Given the description of an element on the screen output the (x, y) to click on. 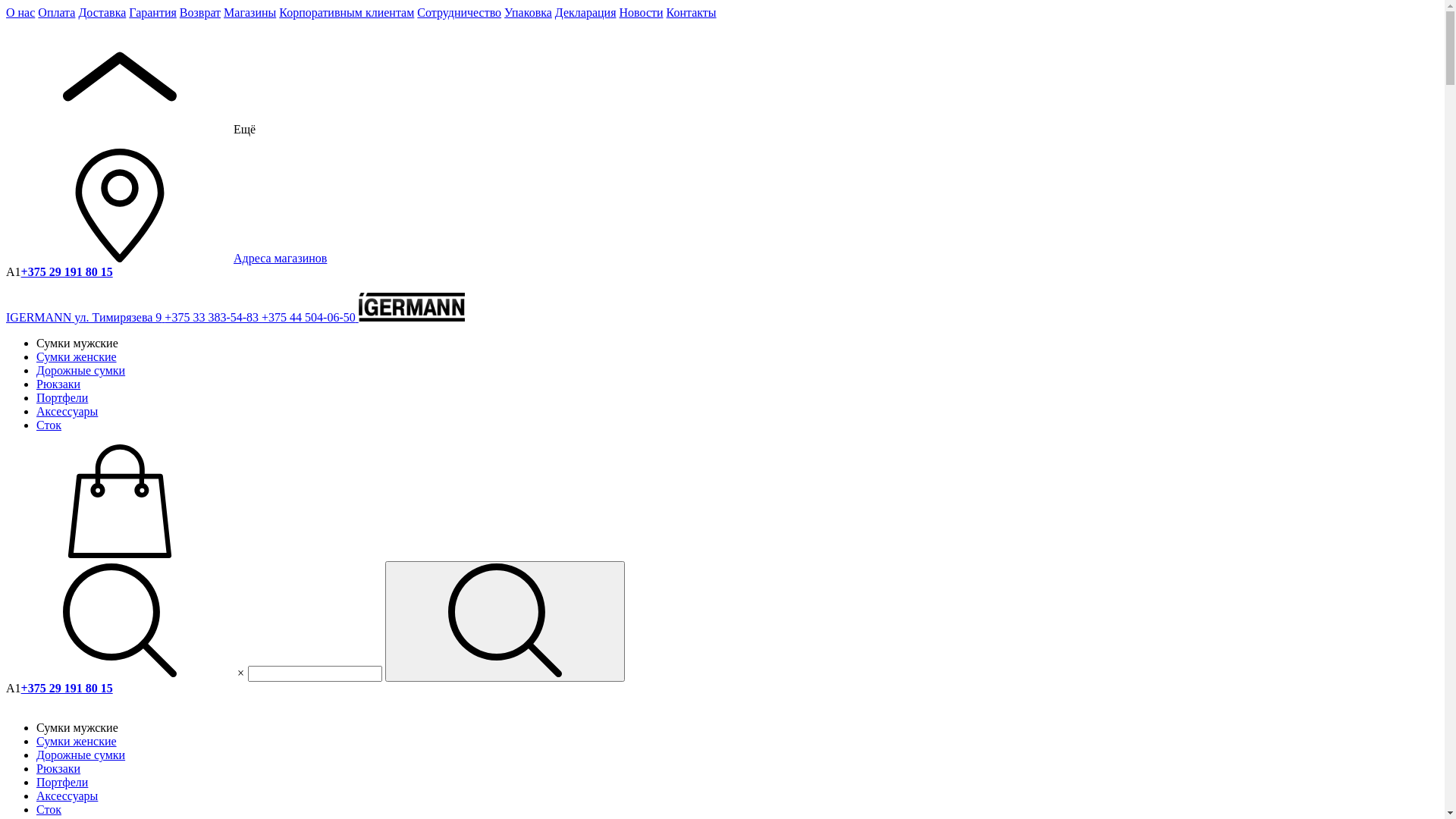
+375 29 191 80 15 Element type: text (66, 687)
+375 29 191 80 15 Element type: text (66, 271)
